Given the description of an element on the screen output the (x, y) to click on. 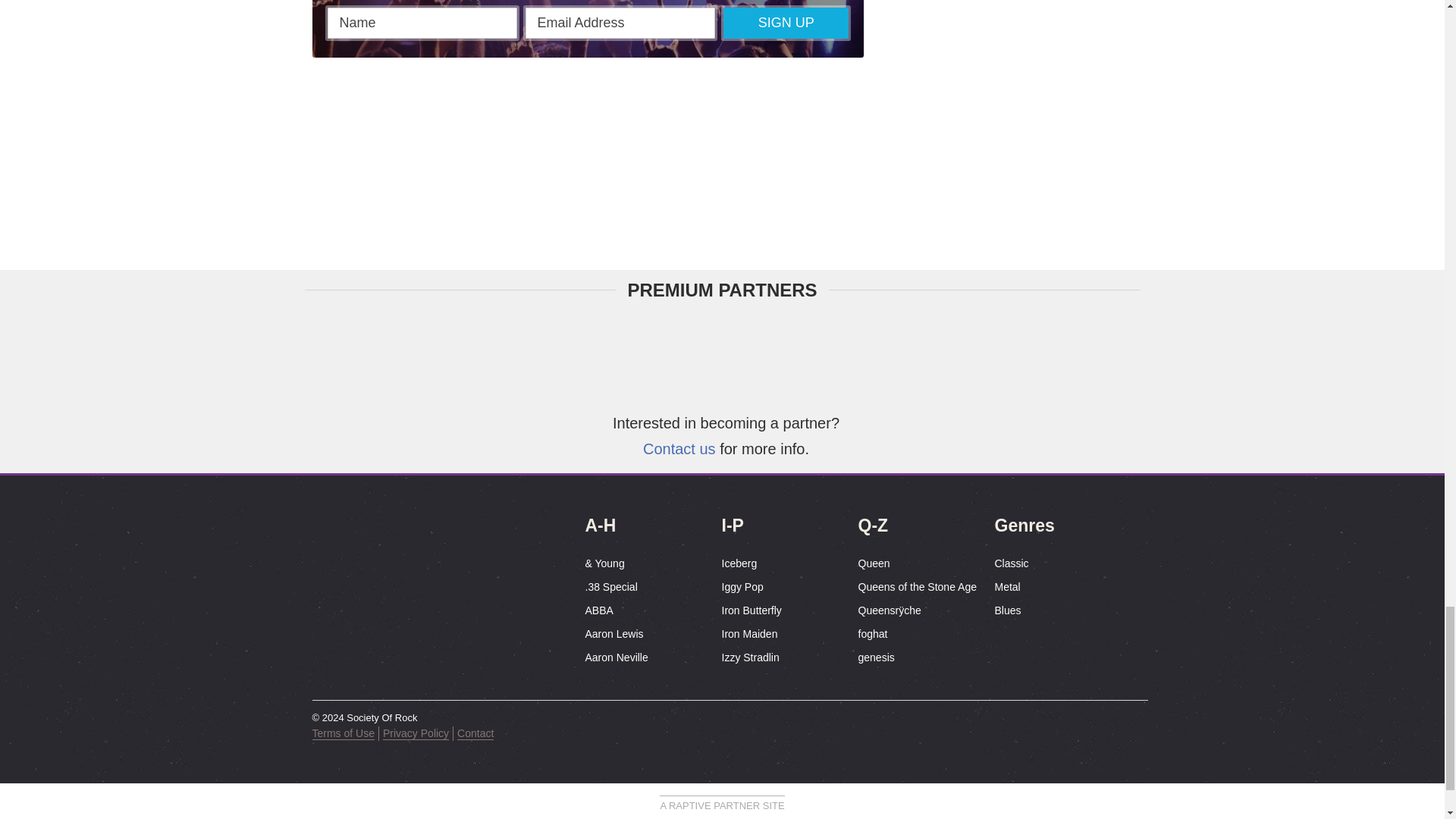
Sign Up (785, 22)
